Given the description of an element on the screen output the (x, y) to click on. 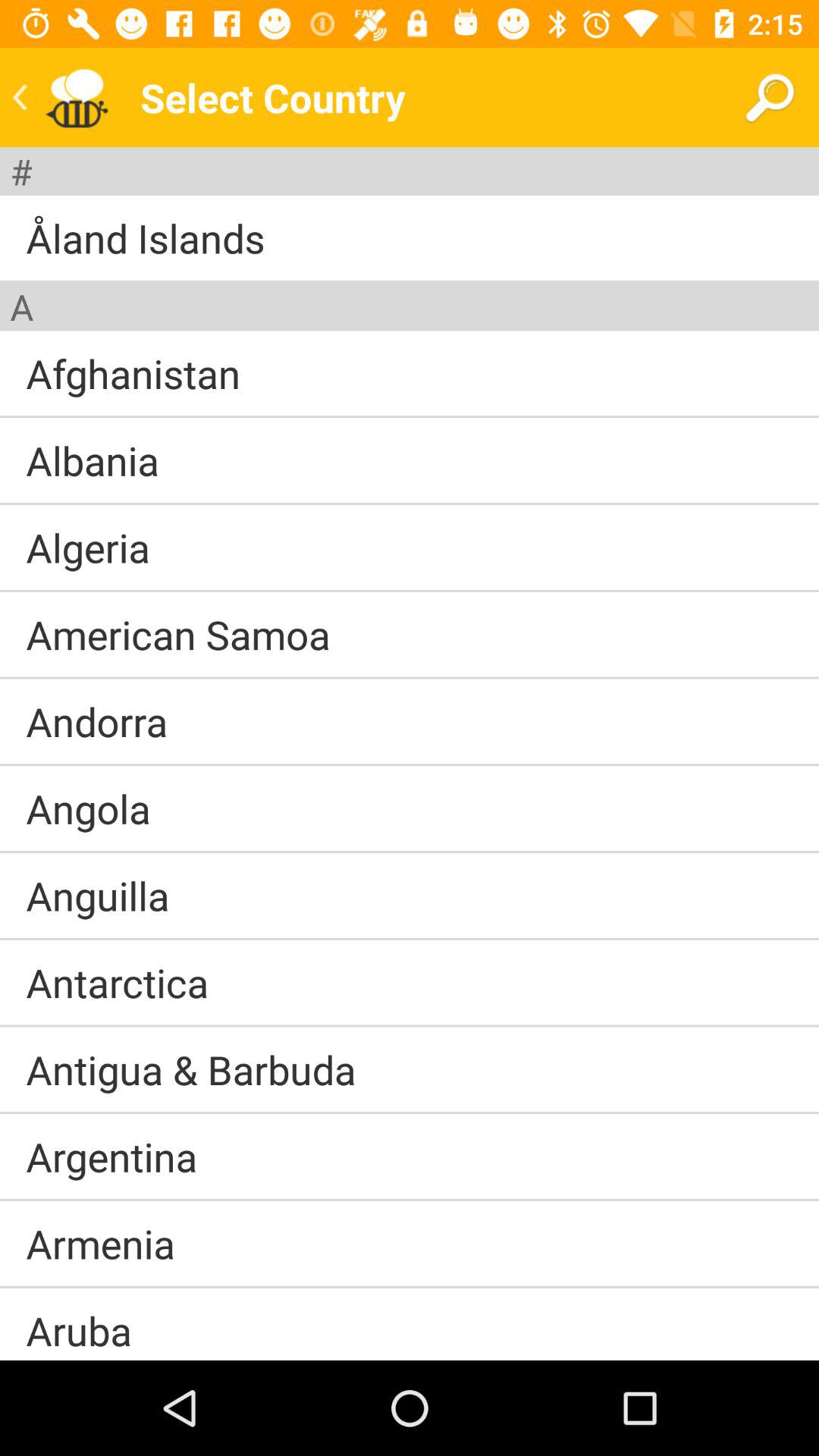
open the item above angola icon (409, 764)
